Given the description of an element on the screen output the (x, y) to click on. 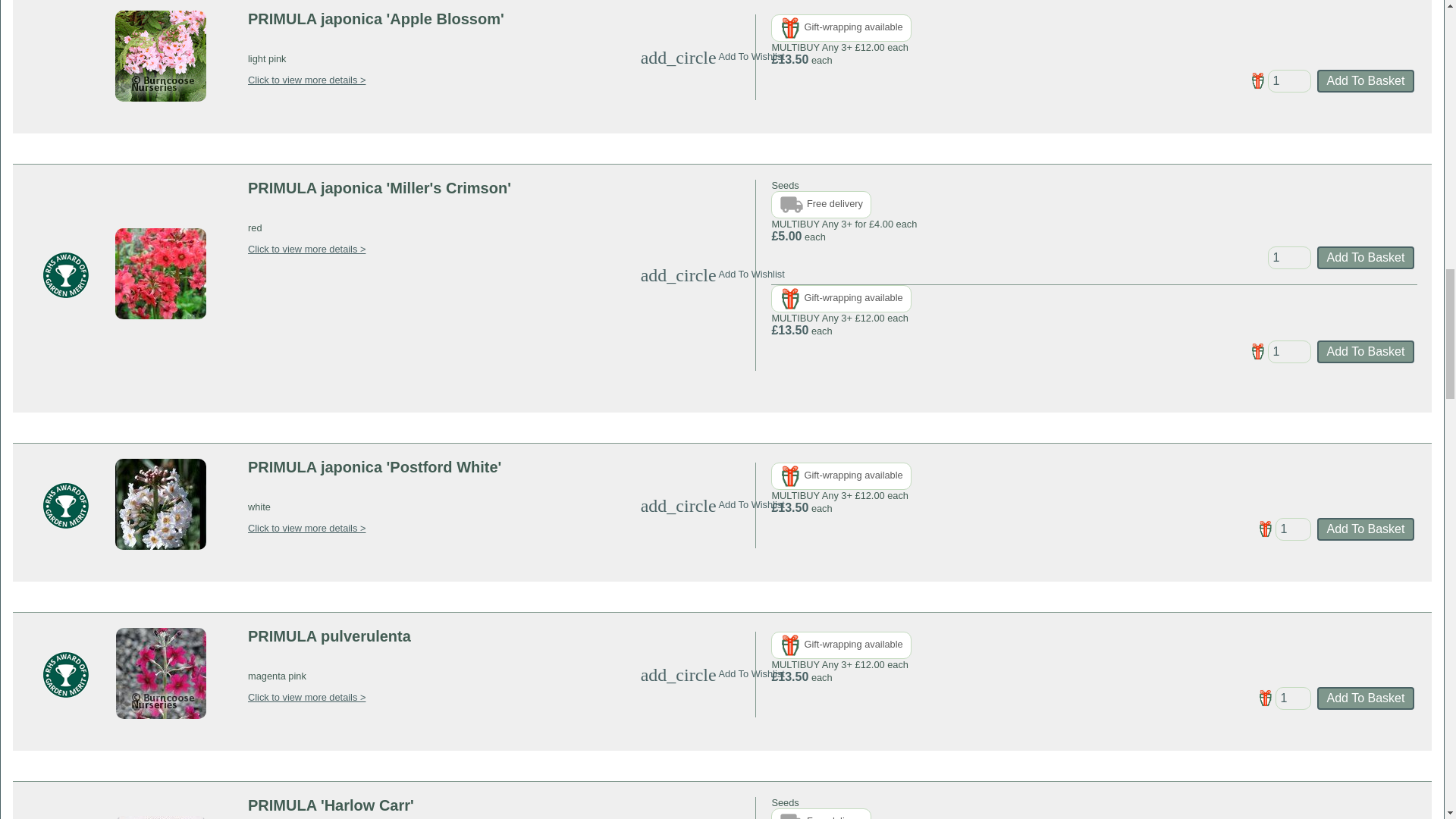
1 (1289, 257)
Add To Basket (1365, 257)
Add To Basket (1365, 351)
1 (1289, 351)
Add To Basket (1365, 528)
1 (1293, 698)
1 (1289, 80)
Add To Basket (1365, 80)
Add To Basket (1365, 698)
1 (1293, 528)
